Given the description of an element on the screen output the (x, y) to click on. 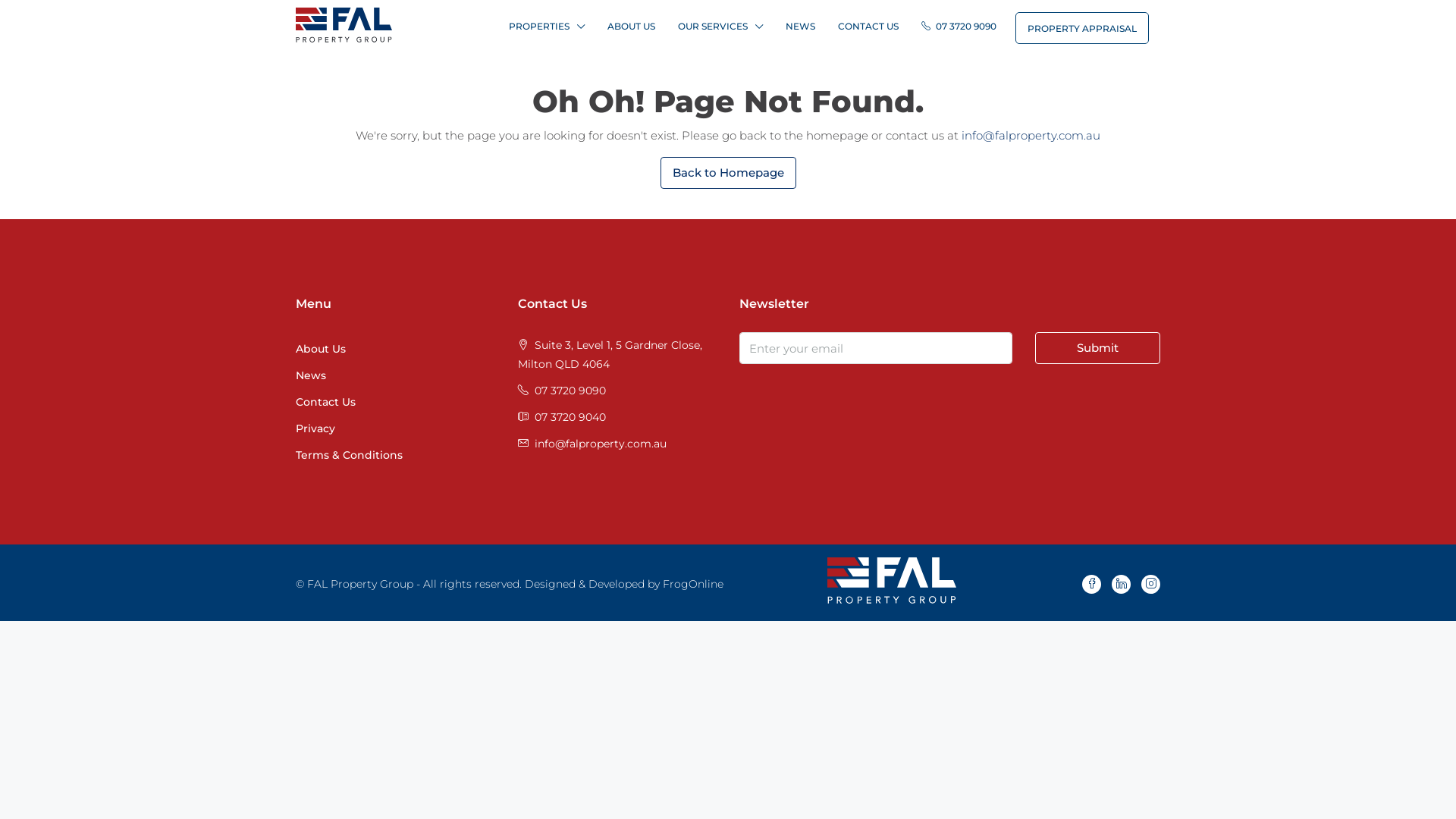
Submit Element type: text (1097, 348)
About Us Element type: text (320, 348)
07 3720 9090 Element type: text (958, 26)
Privacy Element type: text (315, 428)
info@falproperty.com.au Element type: text (599, 443)
Back to Homepage Element type: text (727, 172)
info@falproperty.com.au Element type: text (1030, 135)
NEWS Element type: text (800, 26)
ABOUT US Element type: text (631, 26)
FrogOnline Element type: text (692, 583)
Contact Us Element type: text (325, 401)
PROPERTY APPRAISAL Element type: text (1081, 27)
OUR SERVICES Element type: text (720, 26)
PROPERTIES Element type: text (546, 26)
CONTACT US Element type: text (868, 26)
News Element type: text (310, 375)
07 3720 9090 Element type: text (569, 390)
Terms & Conditions Element type: text (348, 454)
